Given the description of an element on the screen output the (x, y) to click on. 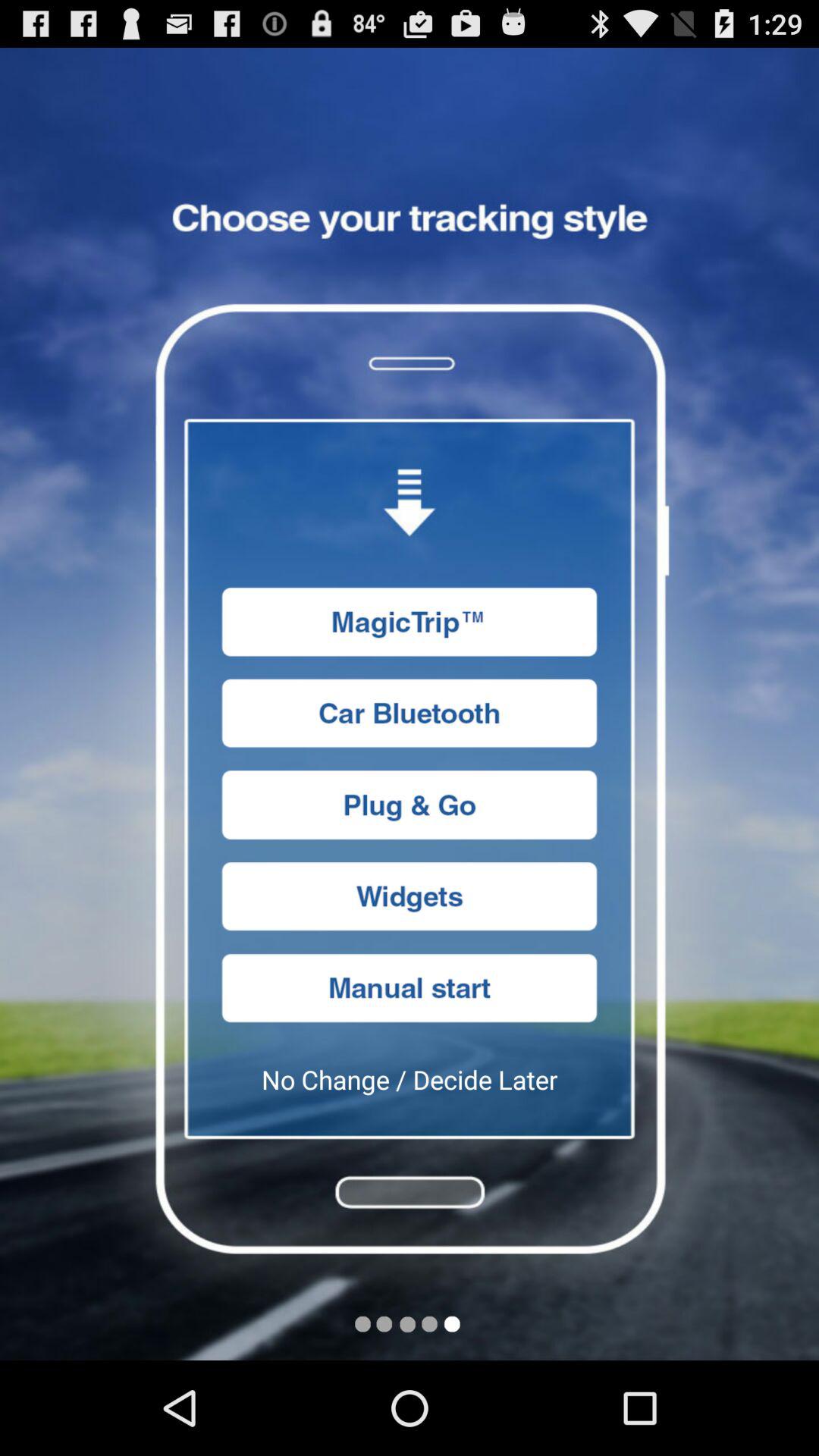
tap a feature (409, 804)
